Given the description of an element on the screen output the (x, y) to click on. 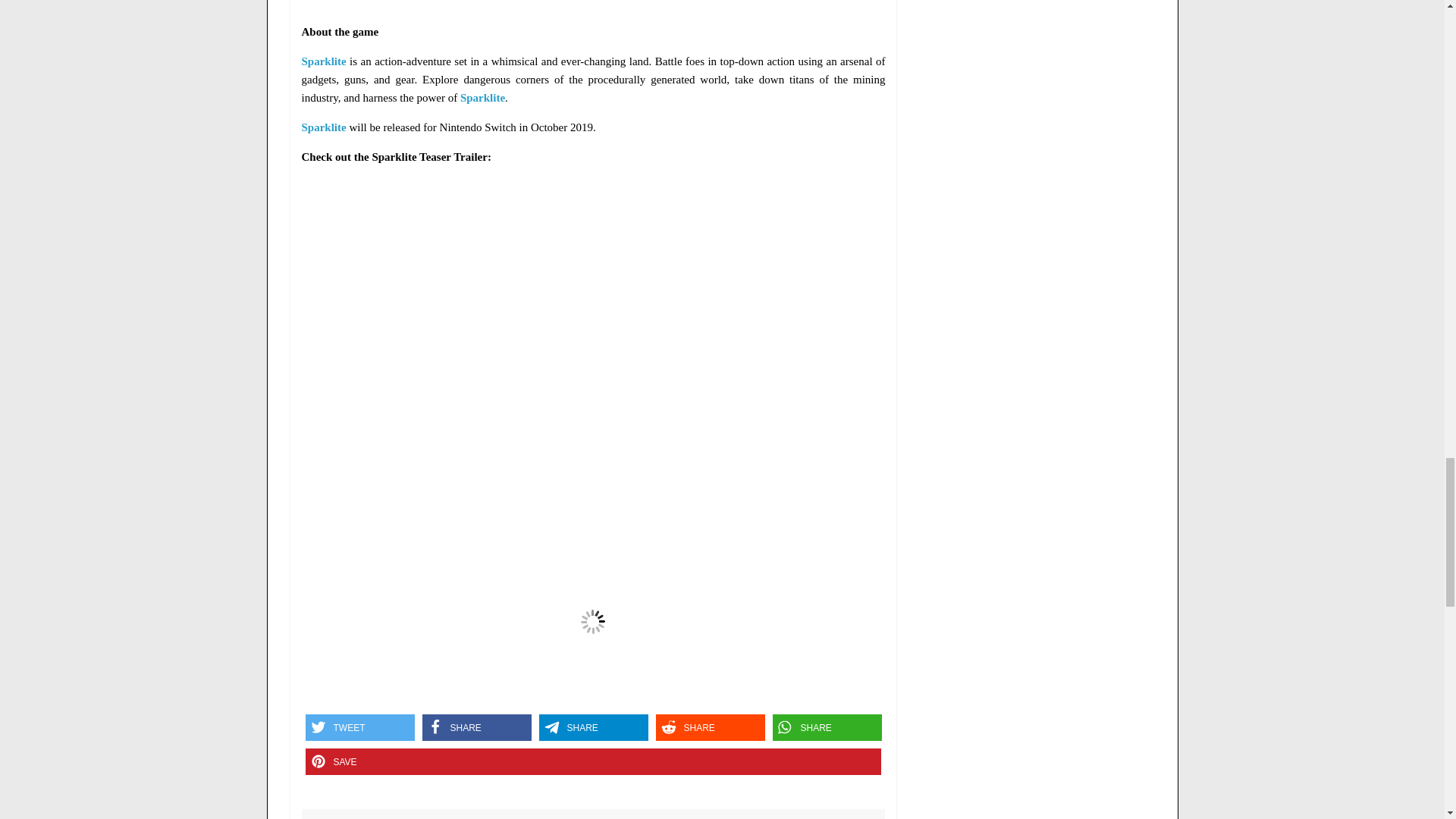
Share on Twitter (358, 727)
Share on Telegram (592, 727)
Share on Facebook (476, 727)
Share on Whatsapp (825, 727)
Share on Reddit (709, 727)
Pin it on Pinterest (592, 761)
